Given the description of an element on the screen output the (x, y) to click on. 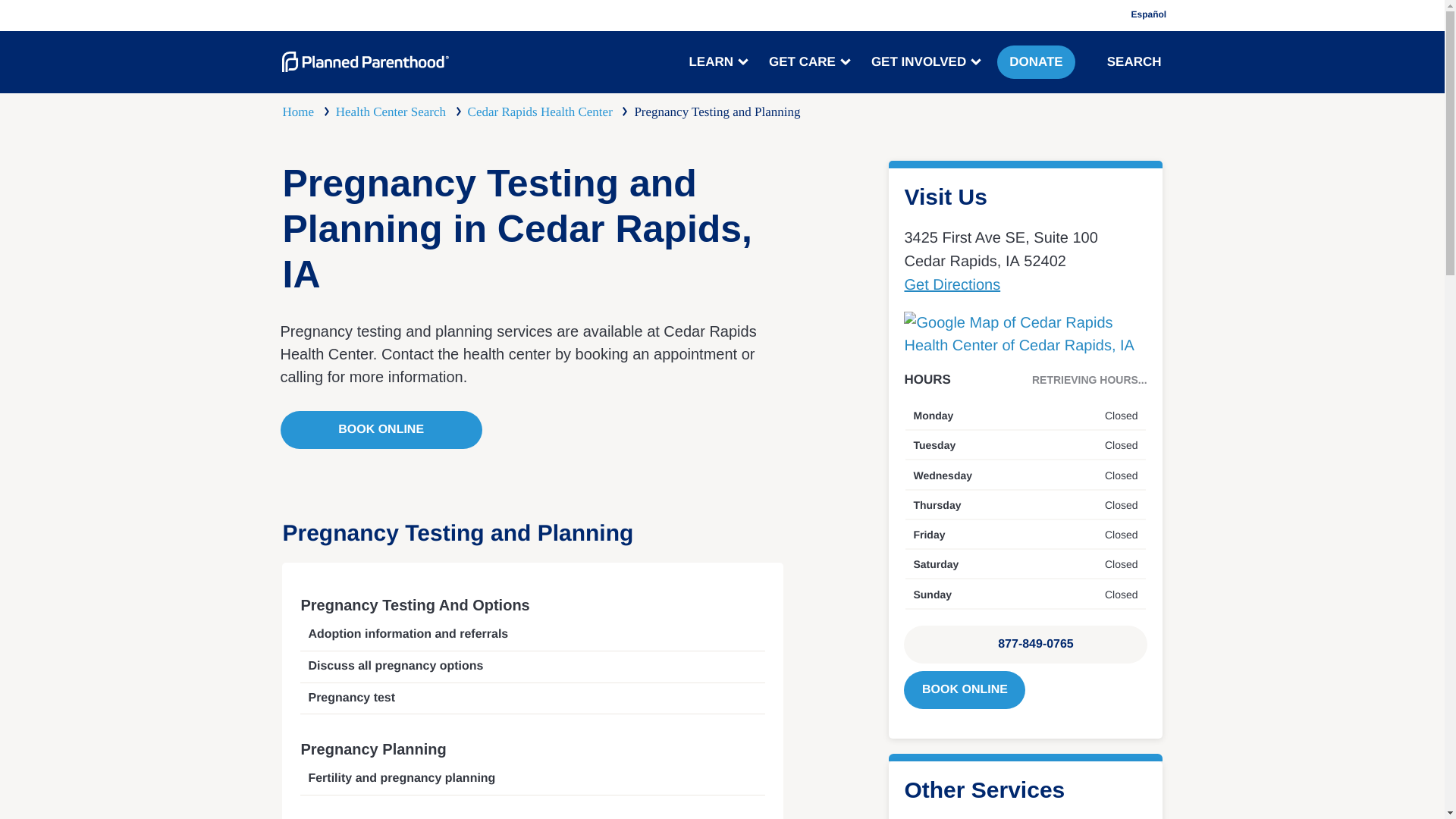
LEARN (717, 62)
GET CARE (808, 62)
OPEN SEARCH (1096, 61)
Back to home (365, 61)
GET INVOLVED (924, 62)
